Given the description of an element on the screen output the (x, y) to click on. 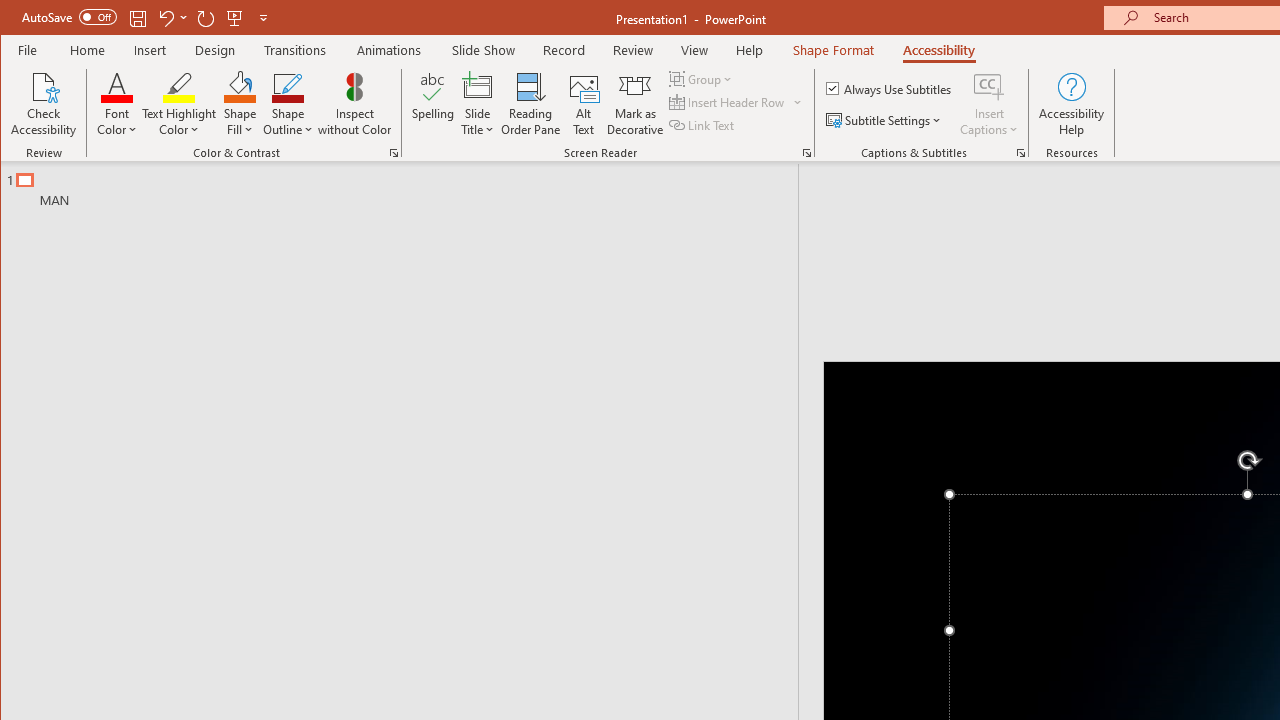
Insert Header Row (728, 101)
Subtitle Settings (885, 119)
Inspect without Color (355, 104)
